Given the description of an element on the screen output the (x, y) to click on. 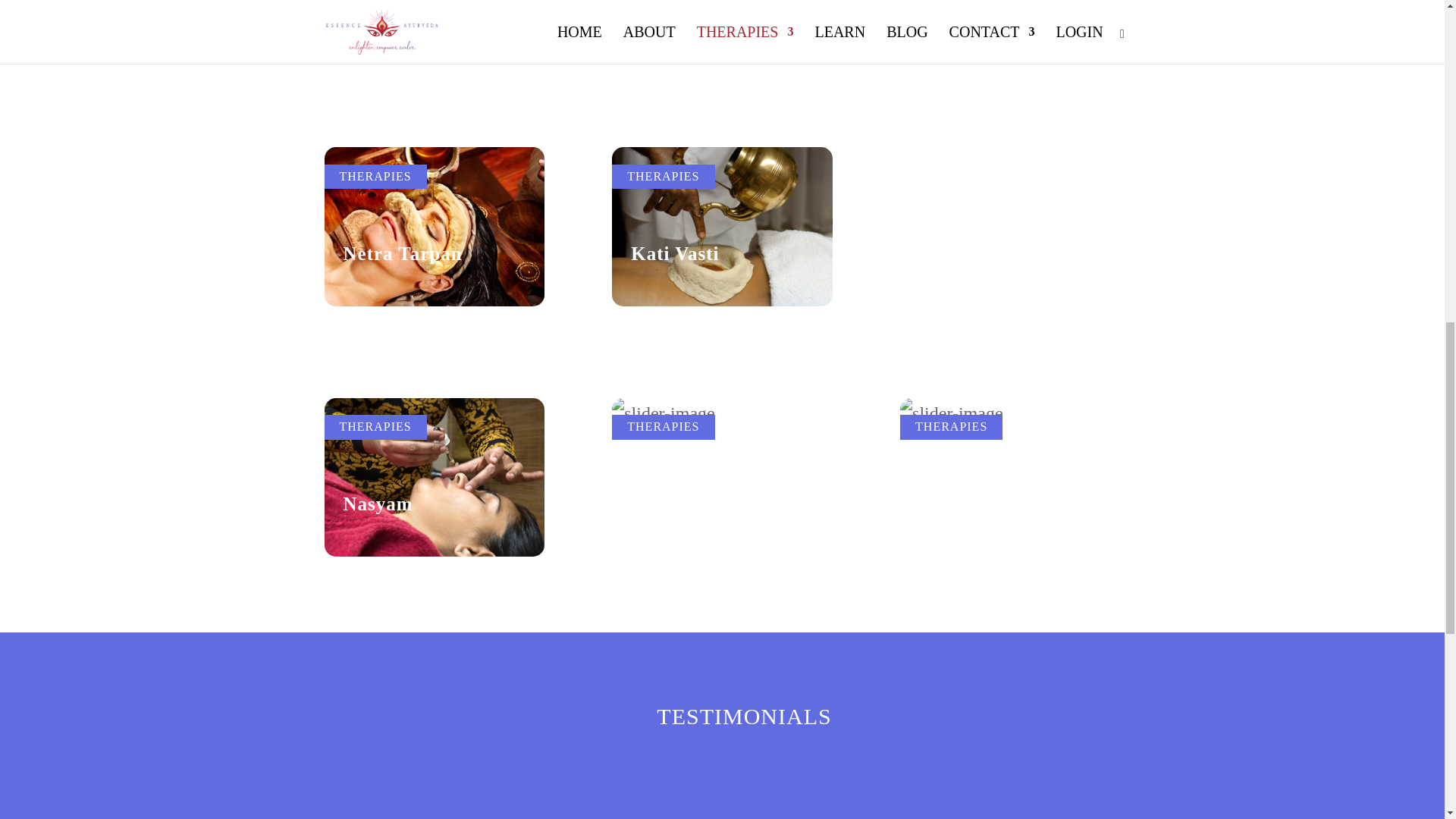
Pinda Sweda (975, 365)
Shirodhara (680, 365)
Kati Vasti (674, 253)
Netra Tarpan (401, 253)
Nasyam (377, 503)
